Given the description of an element on the screen output the (x, y) to click on. 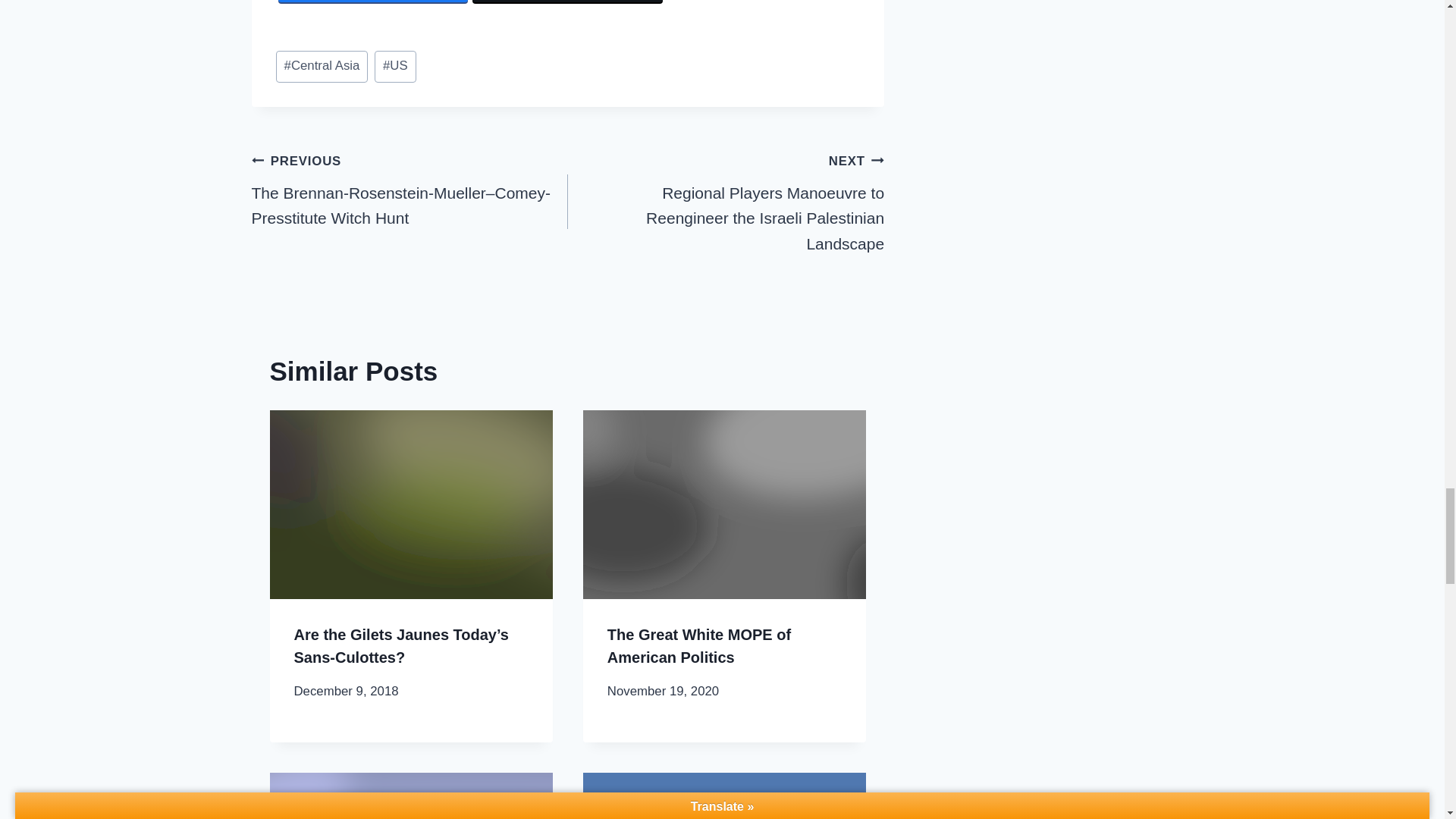
X (566, 1)
US (395, 66)
Central Asia (322, 66)
The Great White MOPE of American Politics (698, 645)
Facebook (372, 1)
